Given the description of an element on the screen output the (x, y) to click on. 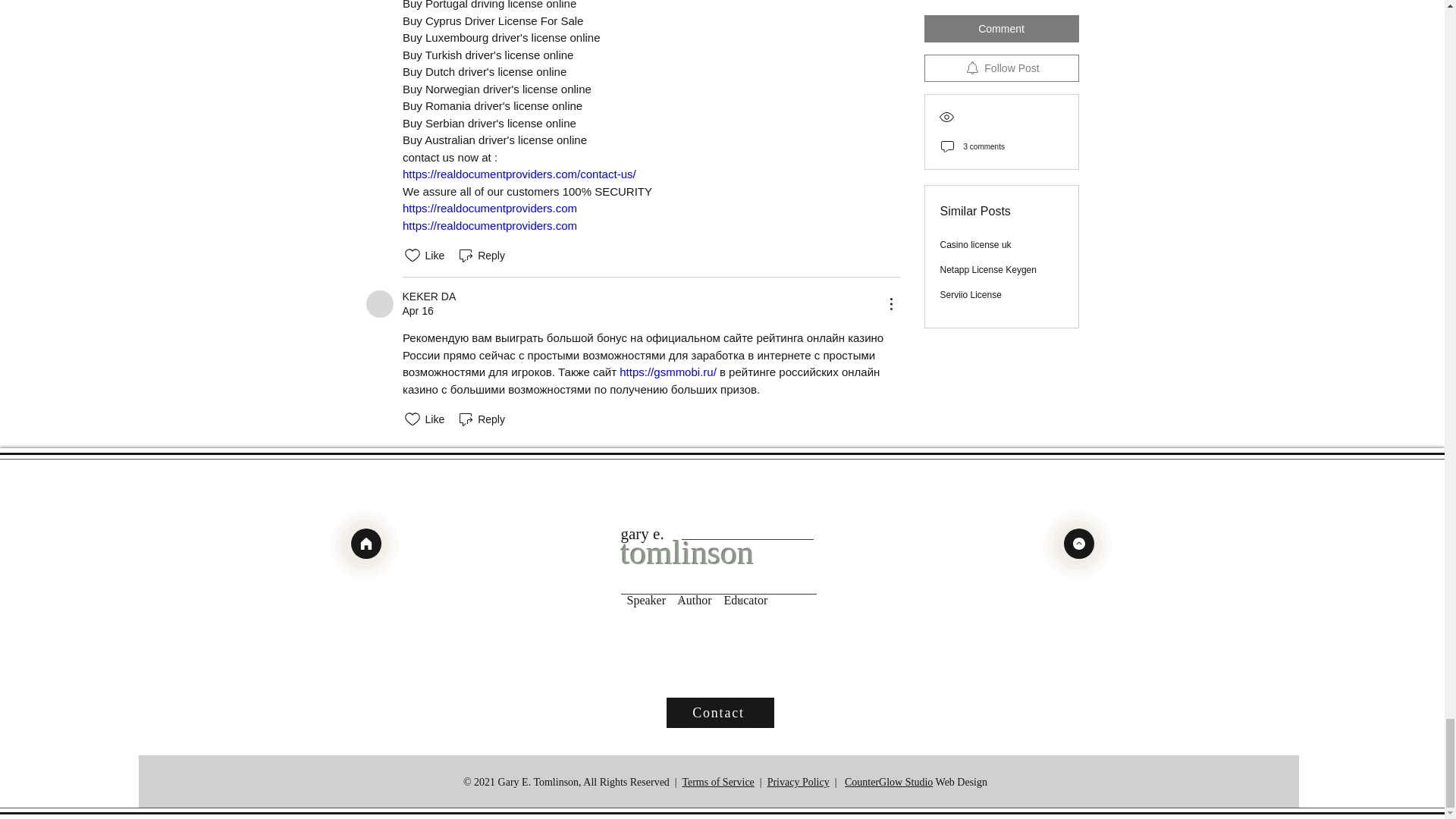
KEKER DA (379, 303)
